Given the description of an element on the screen output the (x, y) to click on. 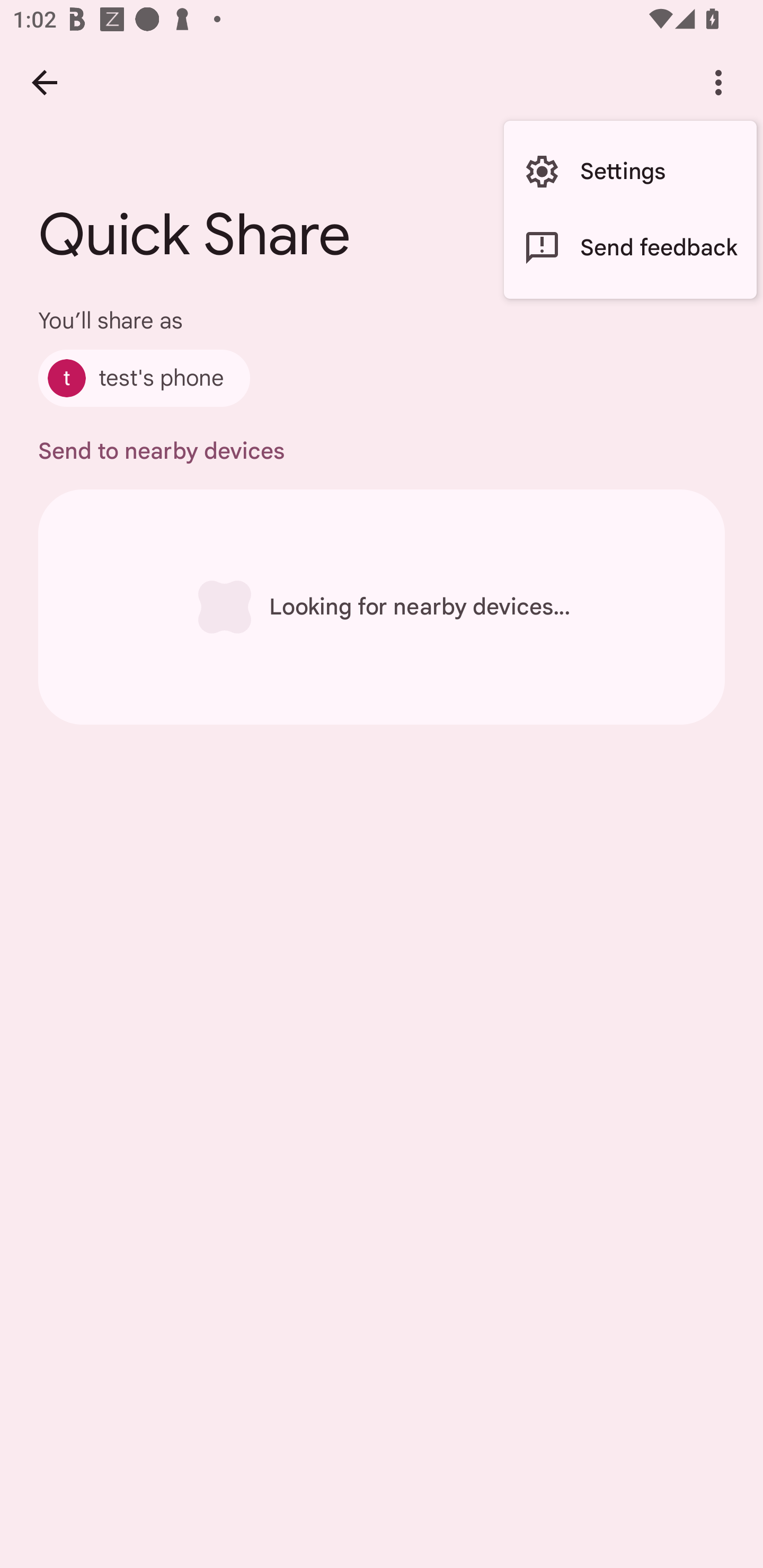
Settings (629, 171)
Send feedback (629, 247)
